Given the description of an element on the screen output the (x, y) to click on. 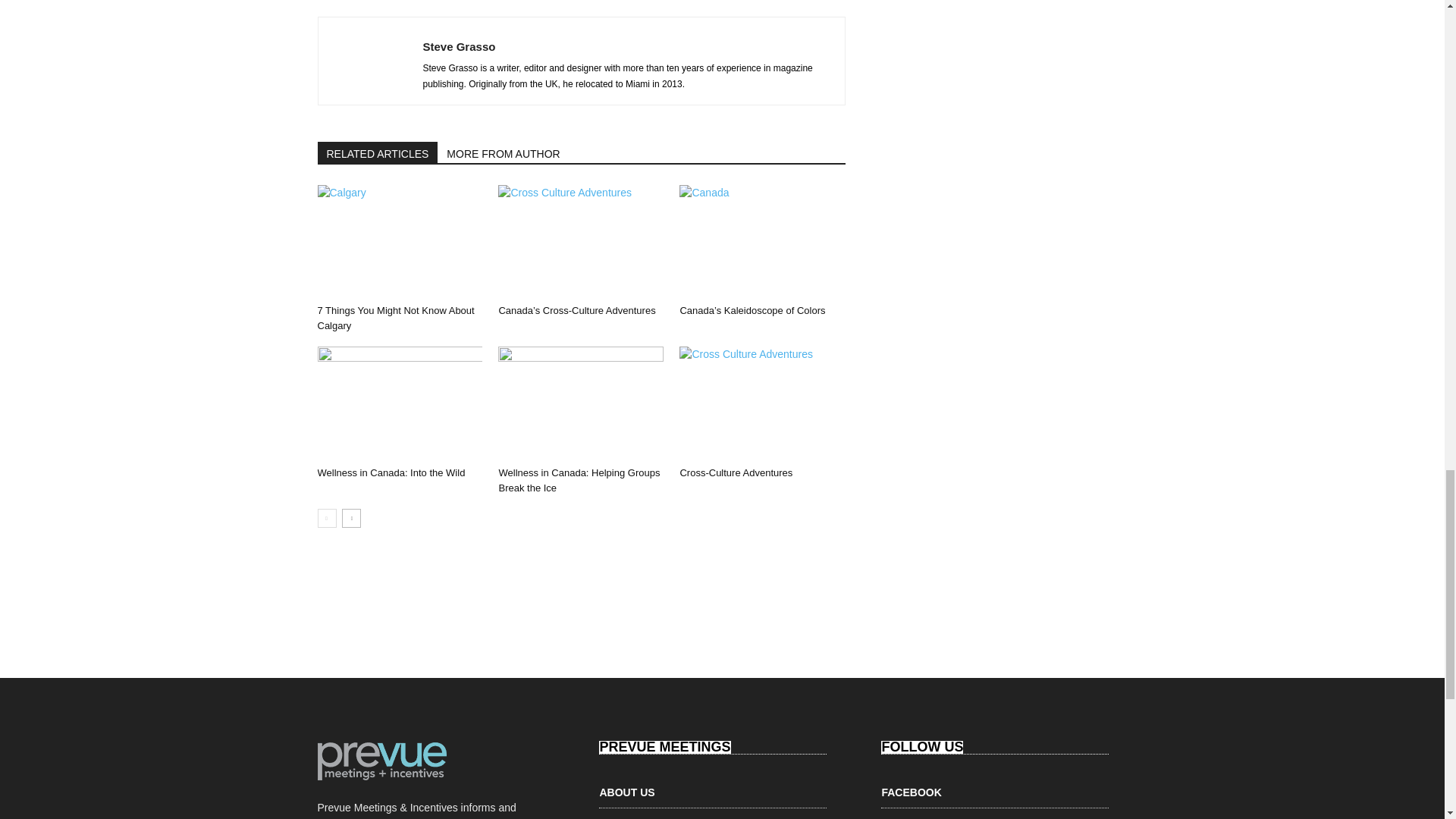
7 Things You Might Not Know About Calgary (399, 241)
7 Things You Might Not Know About Calgary (395, 317)
